Given the description of an element on the screen output the (x, y) to click on. 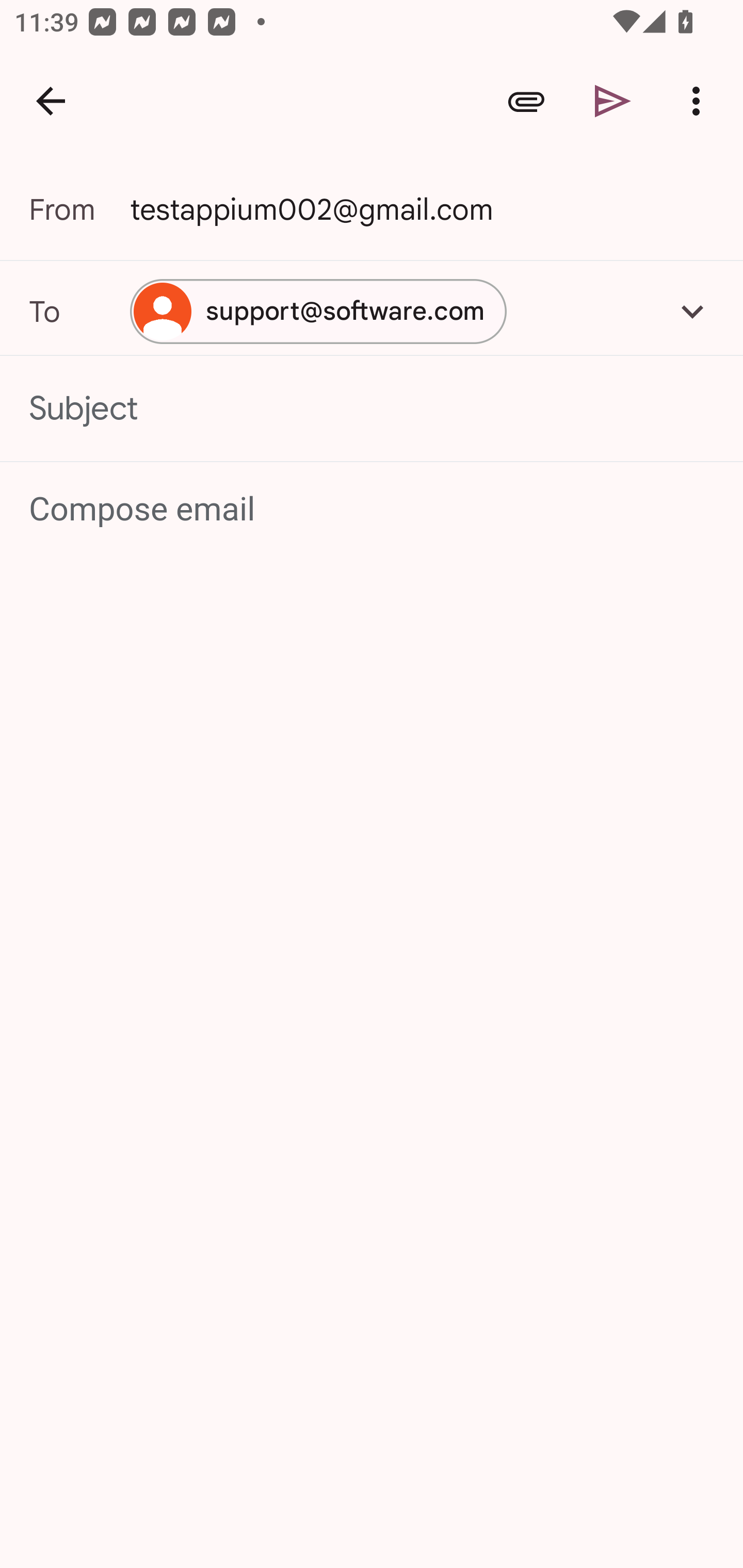
Navigate up (50, 101)
Attach file (525, 101)
Send (612, 101)
More options (699, 101)
From (79, 209)
Add Cc/Bcc (692, 311)
Subject (371, 407)
Compose email (372, 509)
